Given the description of an element on the screen output the (x, y) to click on. 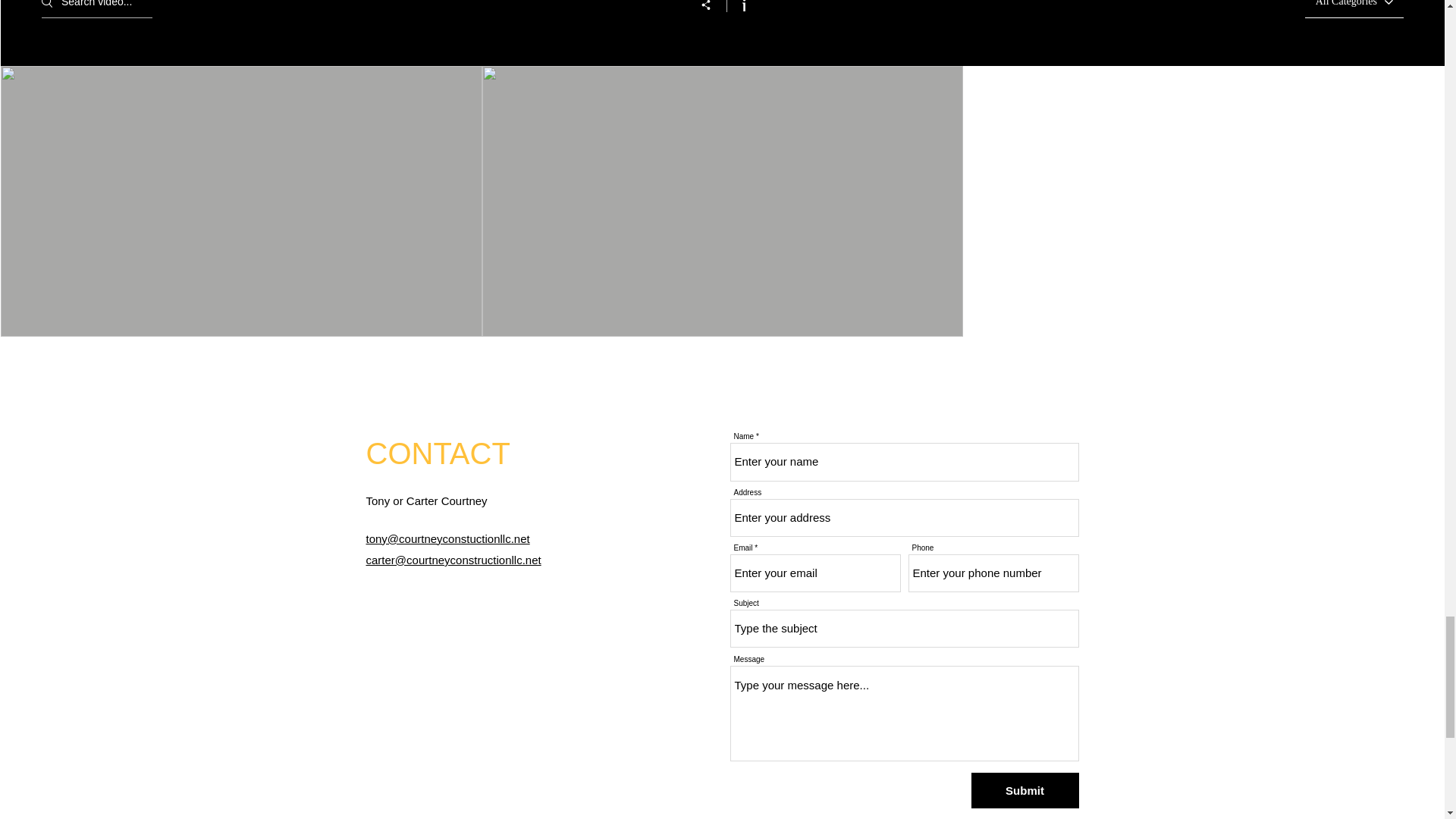
Submit (1024, 790)
All Categories (1346, 6)
